Given the description of an element on the screen output the (x, y) to click on. 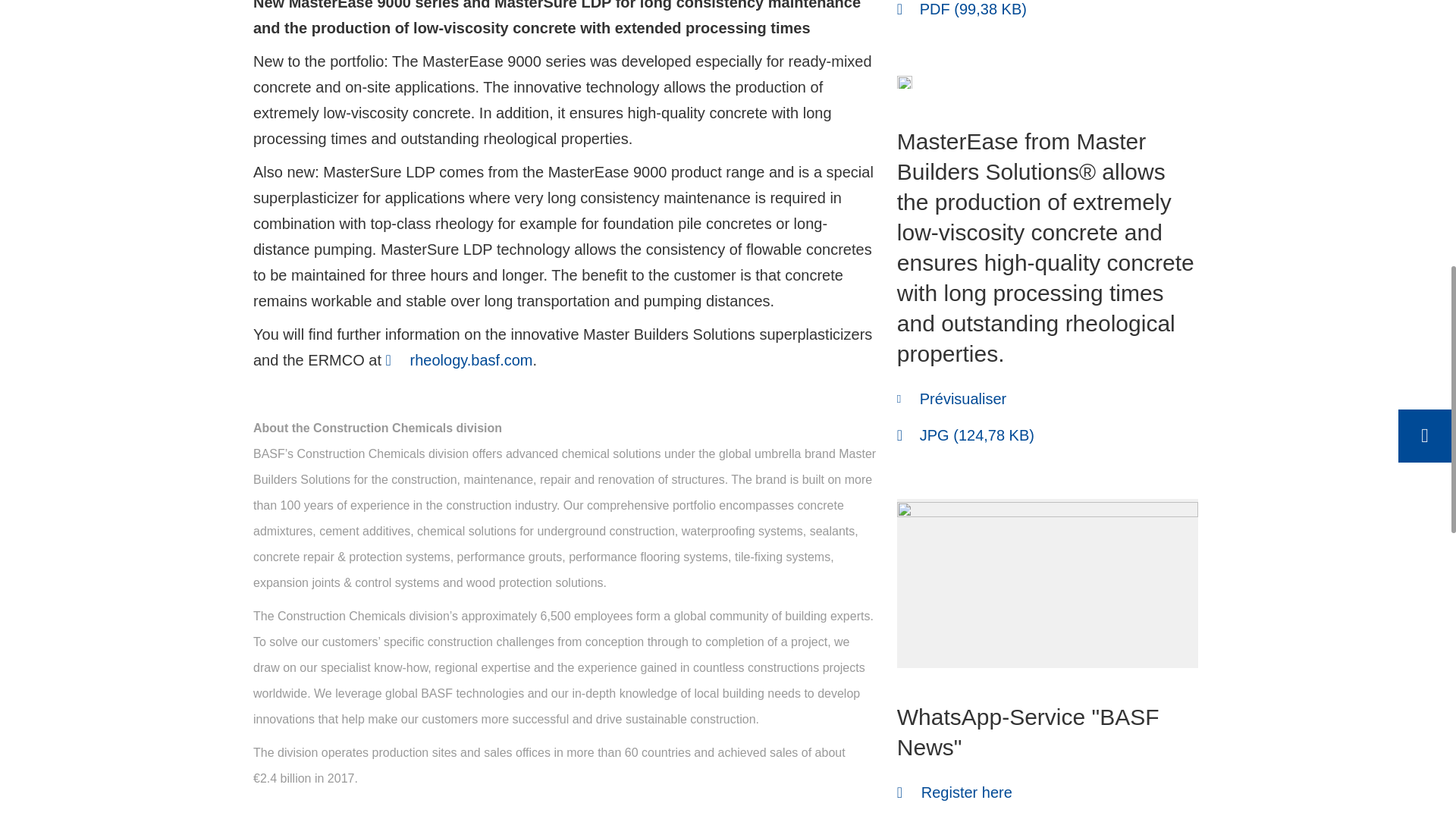
Register here (953, 792)
Register here (953, 792)
rheology.basf.com (458, 360)
